Given the description of an element on the screen output the (x, y) to click on. 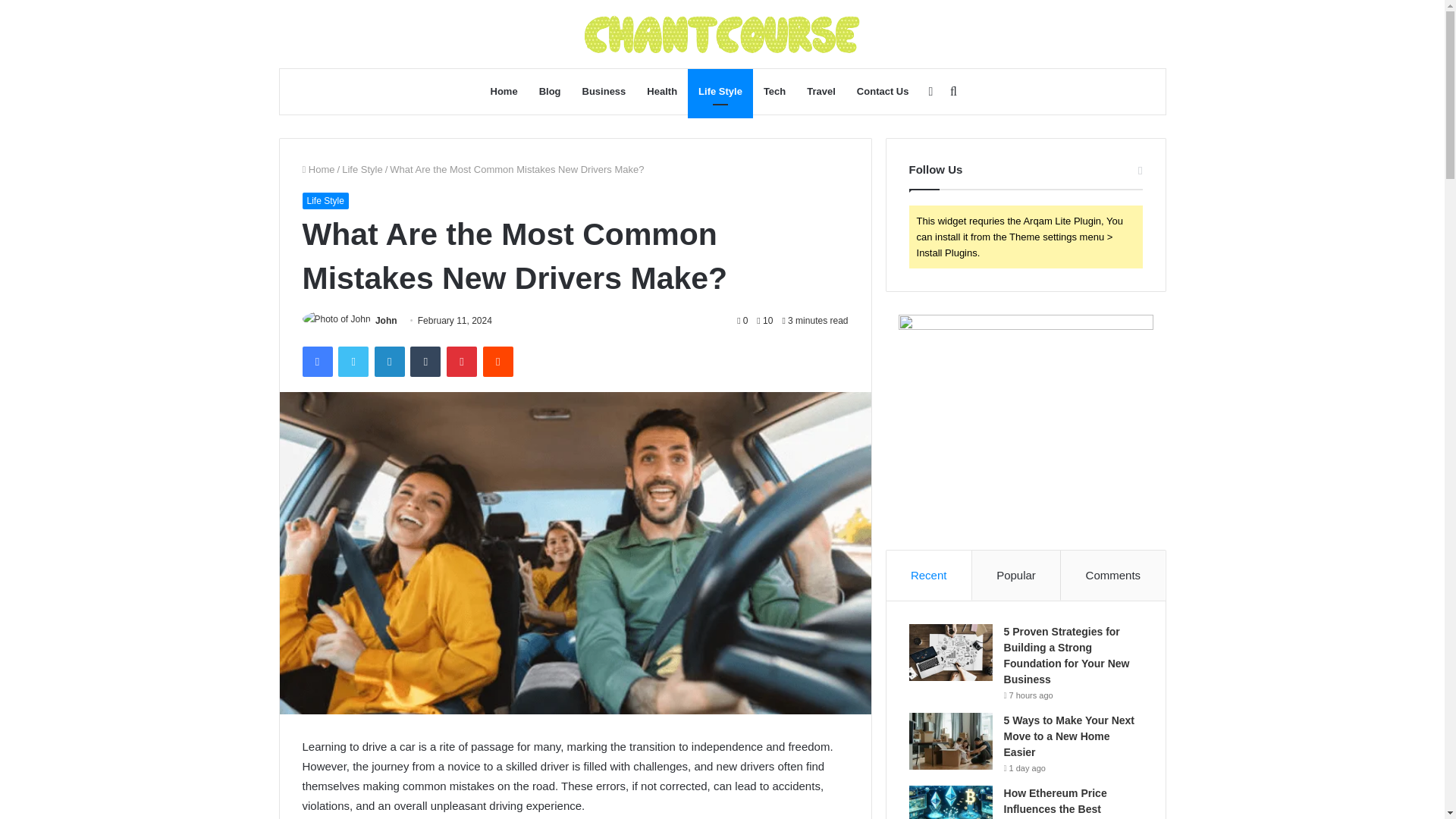
Tumblr (425, 361)
Life Style (324, 200)
John (386, 320)
Home (317, 169)
Blog (550, 91)
Reddit (498, 361)
Travel (820, 91)
Twitter (352, 361)
Facebook (316, 361)
chantcourse (722, 34)
Life Style (719, 91)
LinkedIn (389, 361)
Twitter (352, 361)
Contact Us (882, 91)
John (386, 320)
